Given the description of an element on the screen output the (x, y) to click on. 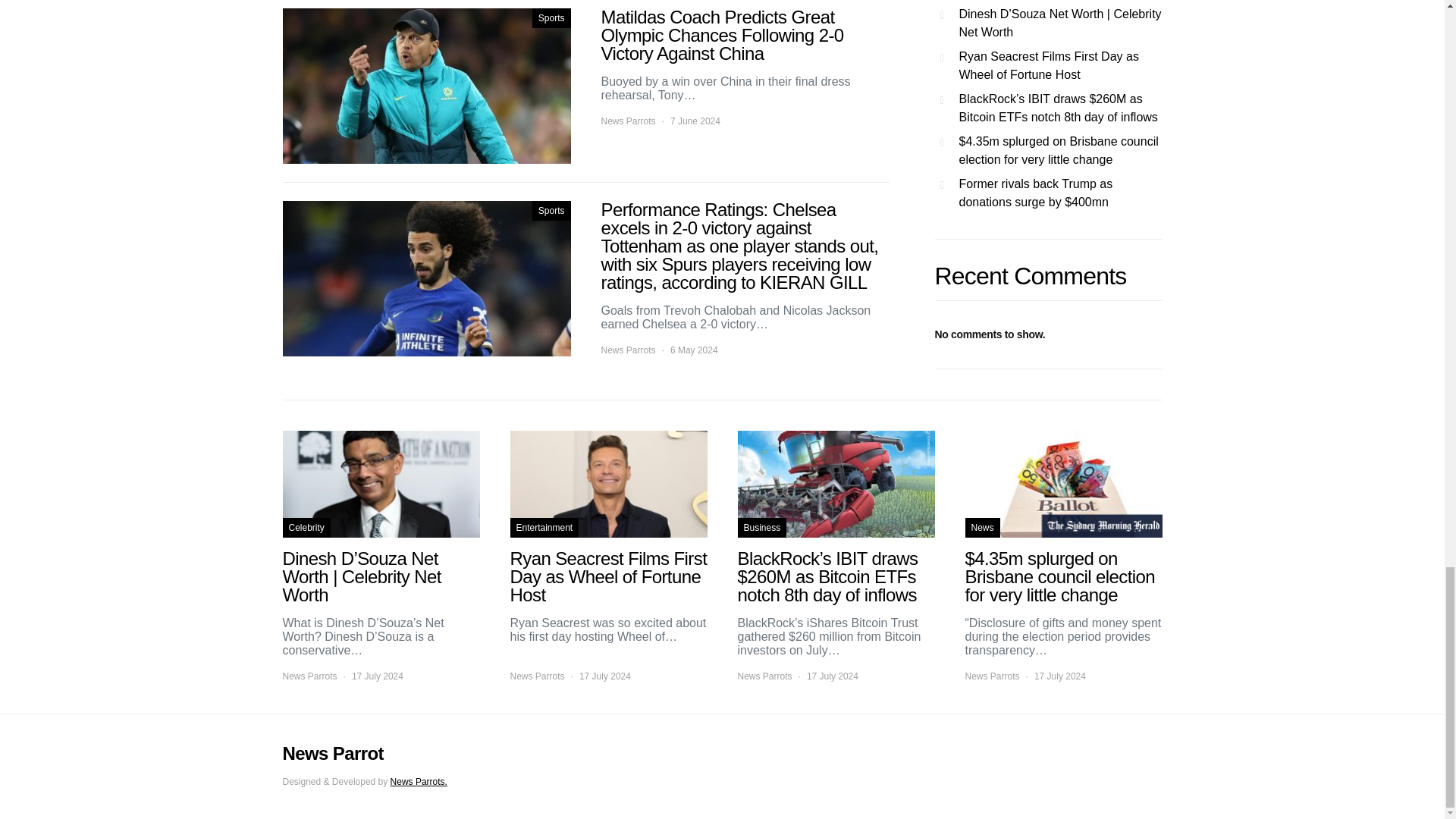
View all posts by News Parrots (627, 120)
View all posts by News Parrots (627, 350)
View all posts by News Parrots (991, 676)
View all posts by News Parrots (309, 676)
View all posts by News Parrots (536, 676)
View all posts by News Parrots (764, 676)
